Given the description of an element on the screen output the (x, y) to click on. 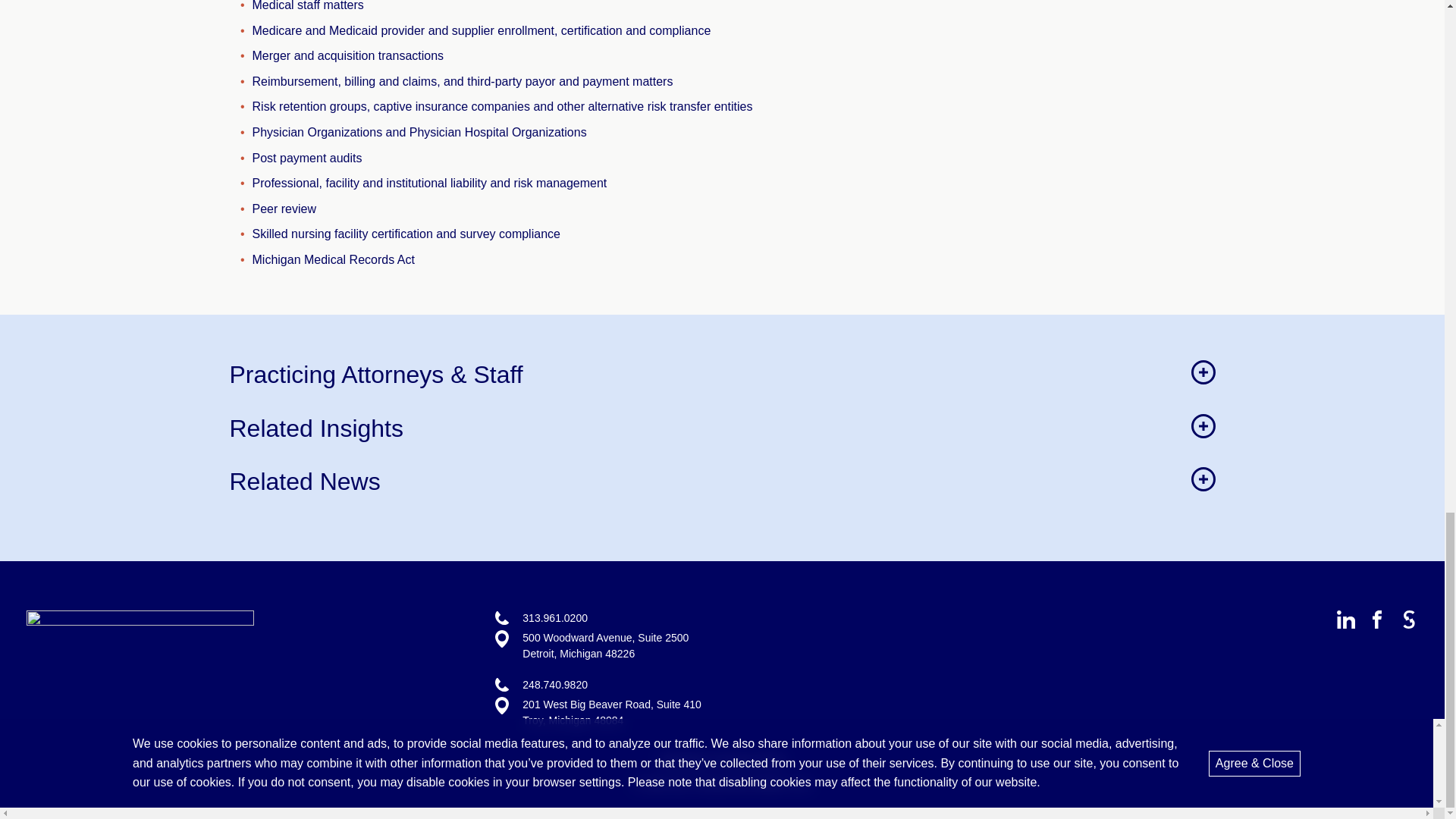
Kerr Russell home (139, 621)
Related Insights (721, 428)
